Given the description of an element on the screen output the (x, y) to click on. 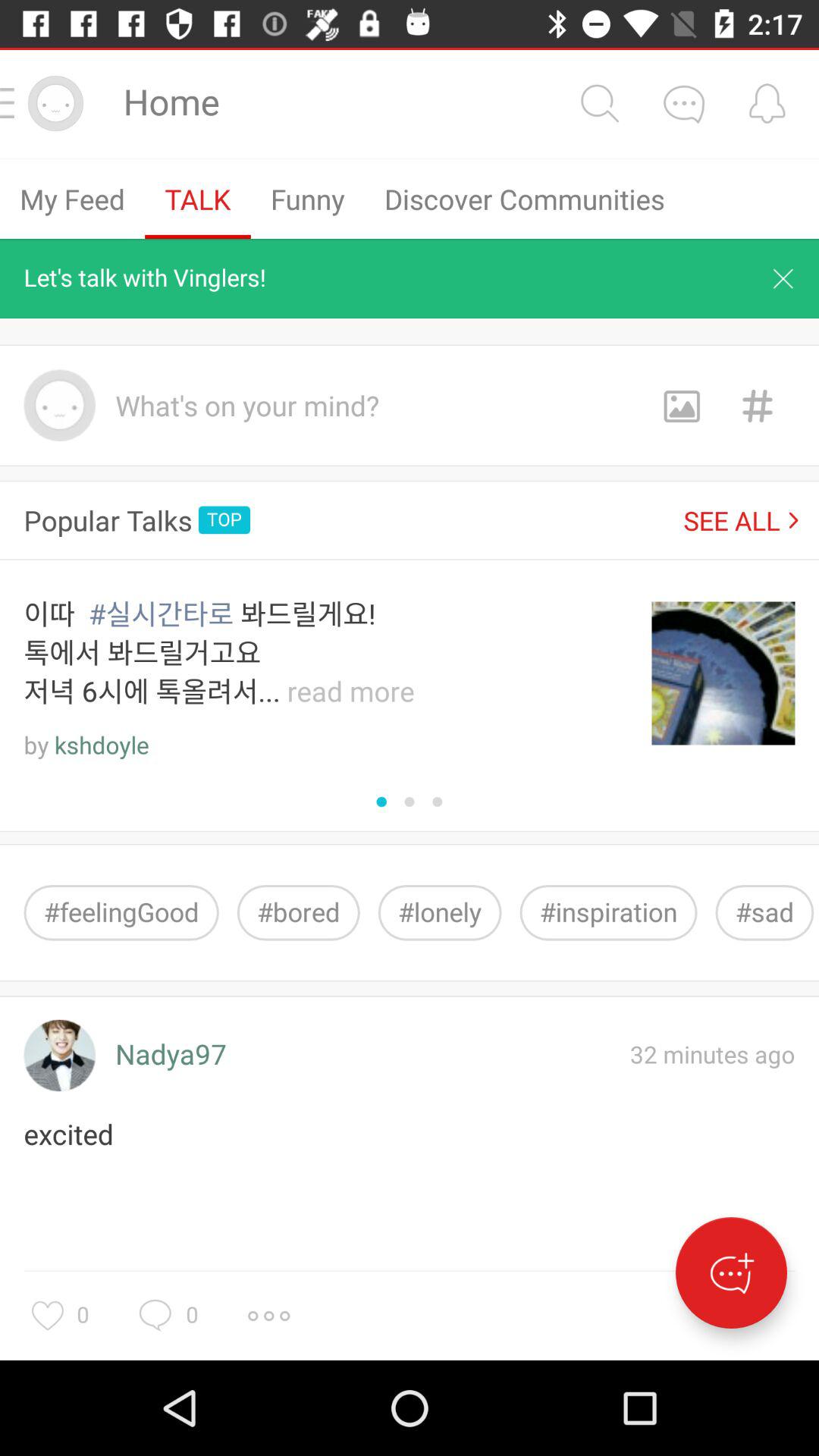
switch more details (683, 103)
